Given the description of an element on the screen output the (x, y) to click on. 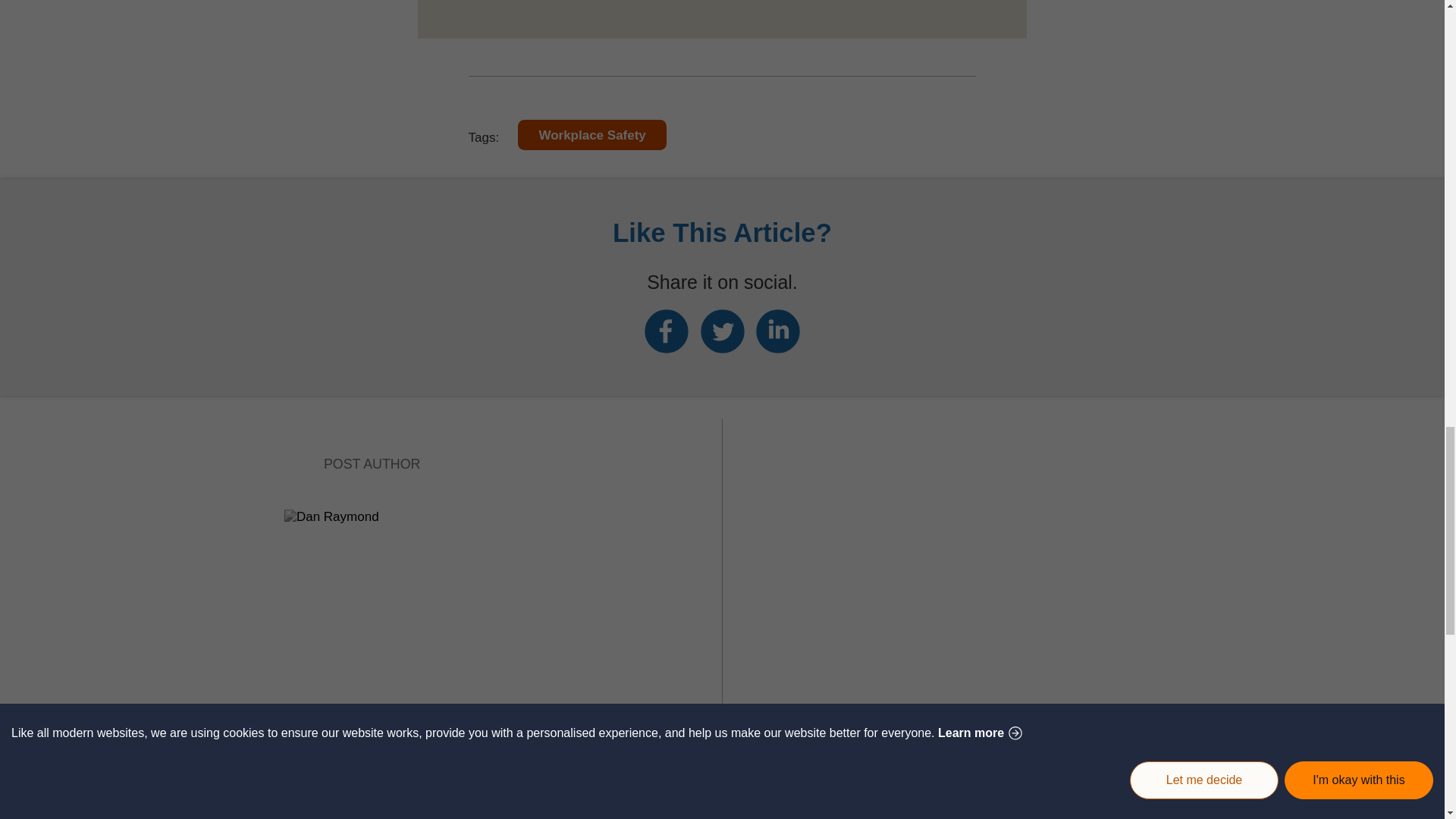
High Speed Training Course page (722, 18)
Posts by Dan Raymond (371, 745)
Workplace Safety (592, 134)
